Given the description of an element on the screen output the (x, y) to click on. 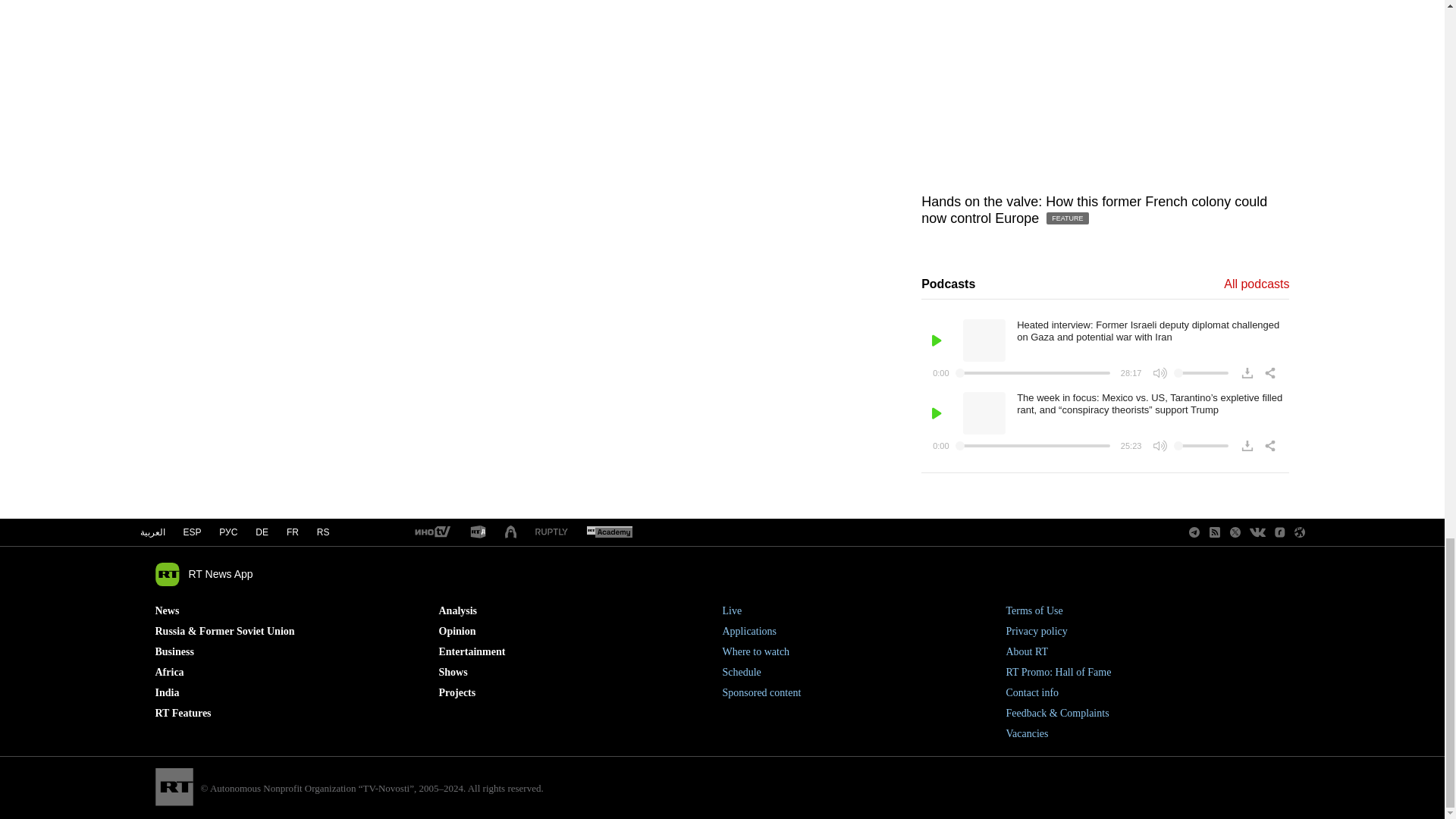
RT  (551, 532)
RT  (608, 532)
RT  (478, 532)
RT  (431, 532)
